Given the description of an element on the screen output the (x, y) to click on. 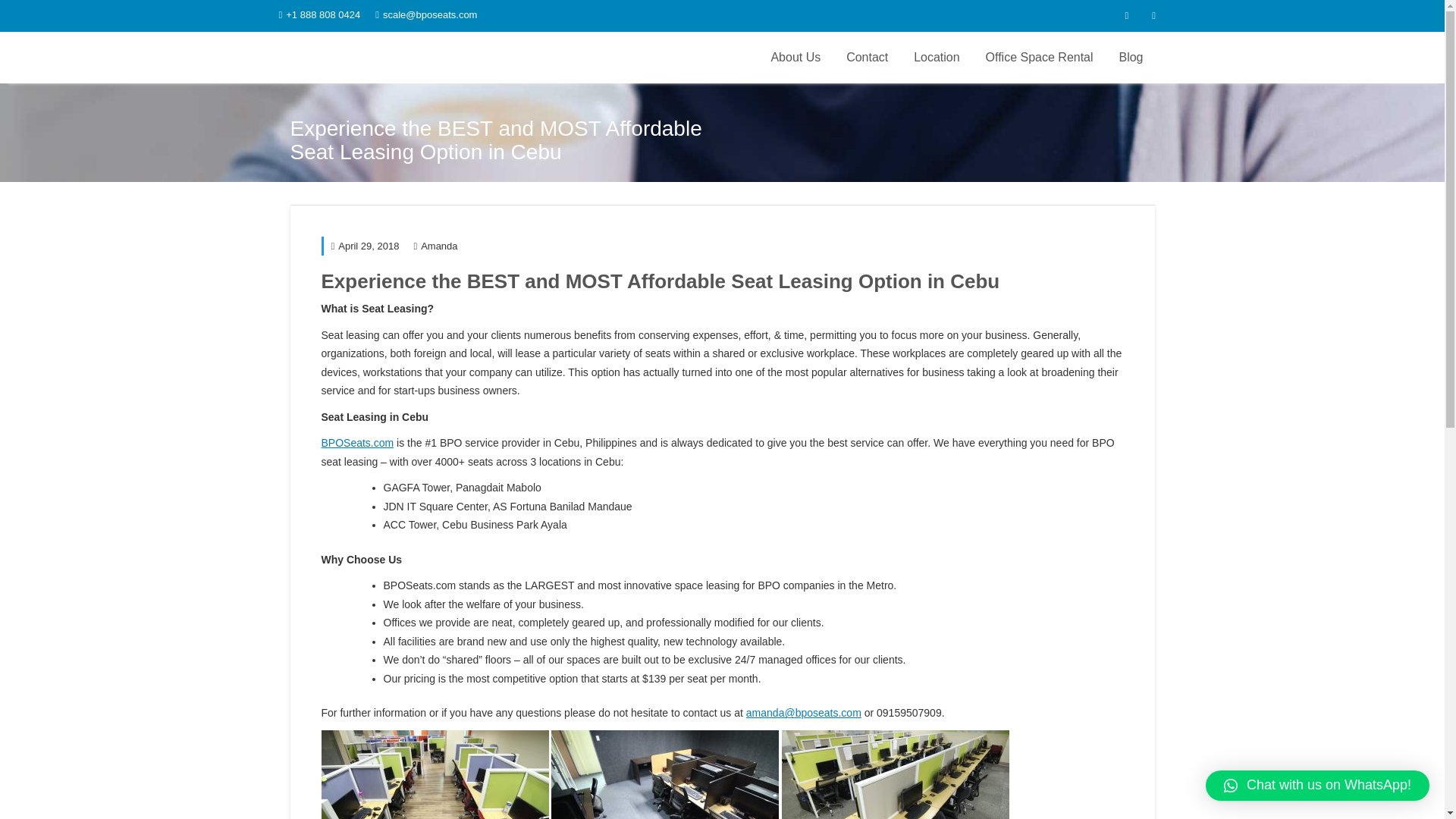
April 29, 2018 (364, 245)
About Us (794, 57)
Chat with us on WhatsApp! (1317, 785)
Facebook (1126, 15)
Blog (1130, 57)
Location (936, 57)
Amanda (435, 245)
BPOSeats.com (357, 442)
Office Space Rental (1039, 57)
Youtube (1153, 15)
